Given the description of an element on the screen output the (x, y) to click on. 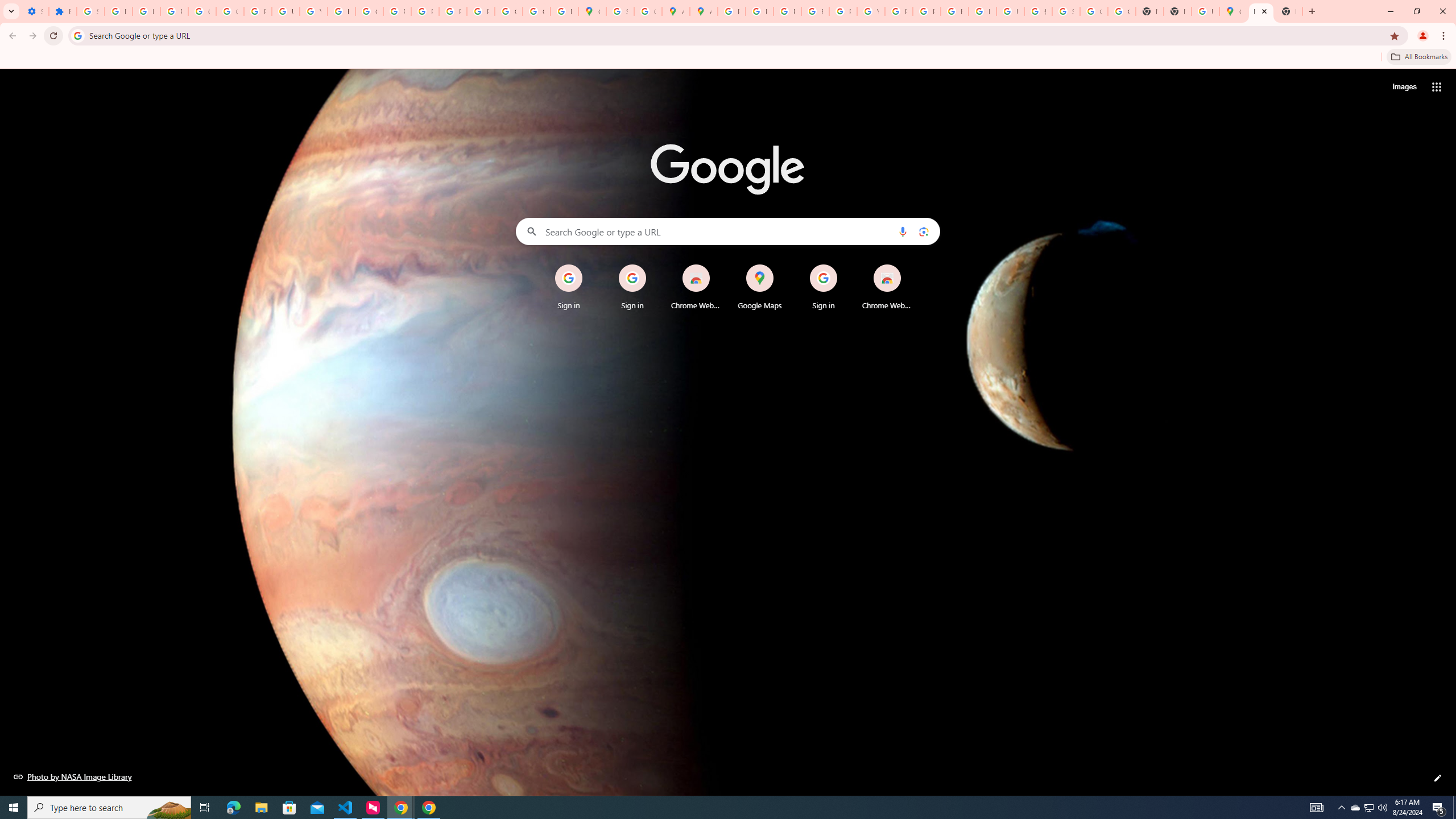
Google Account Help (202, 11)
Privacy Help Center - Policies Help (397, 11)
https://scholar.google.com/ (341, 11)
Use Google Maps in Space - Google Maps Help (1205, 11)
Create your Google Account (647, 11)
